Given the description of an element on the screen output the (x, y) to click on. 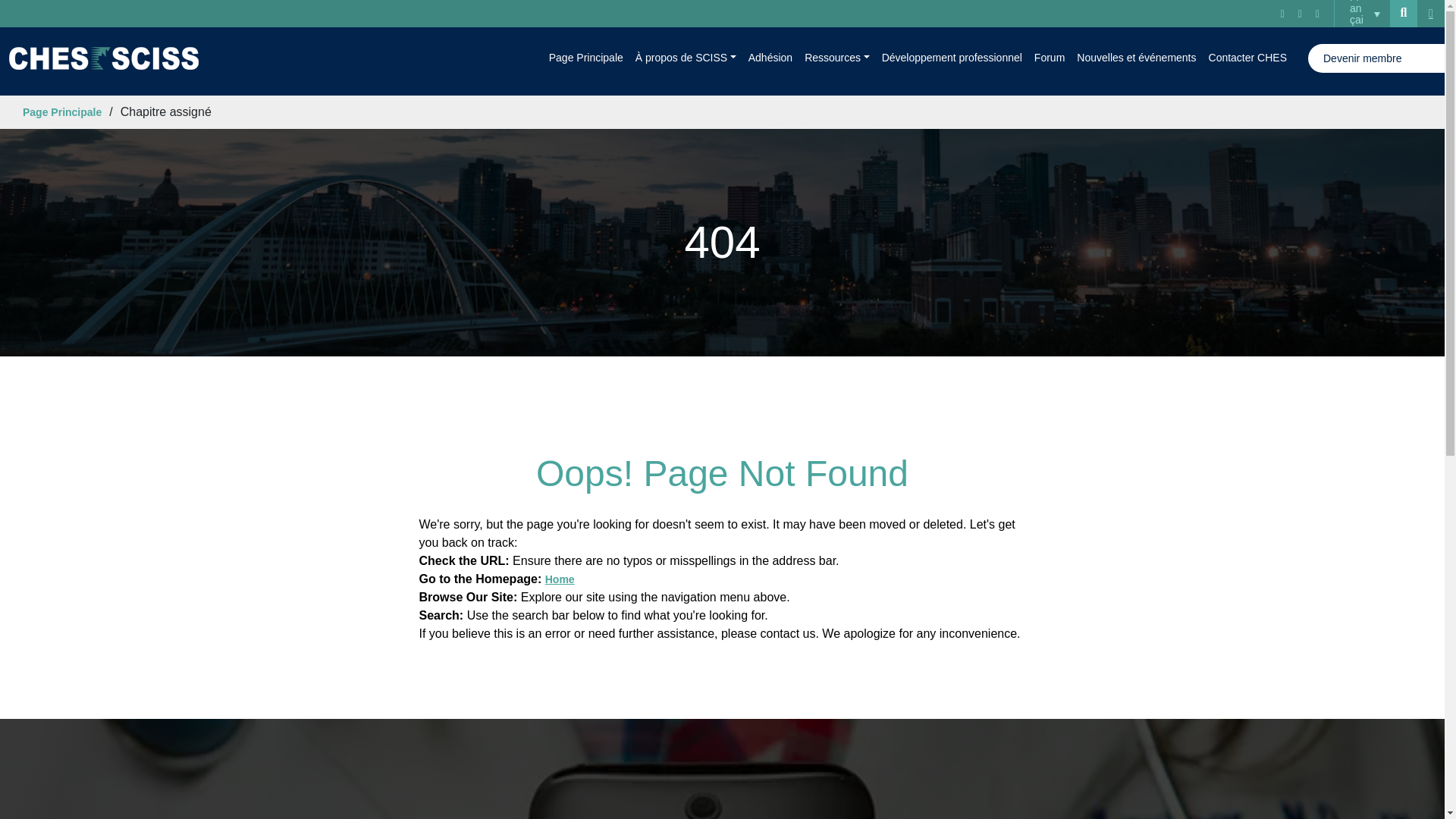
Contacter CHES (1247, 58)
Page Principale (62, 111)
Ressources (836, 58)
Page Principale (585, 58)
Home (559, 579)
